Given the description of an element on the screen output the (x, y) to click on. 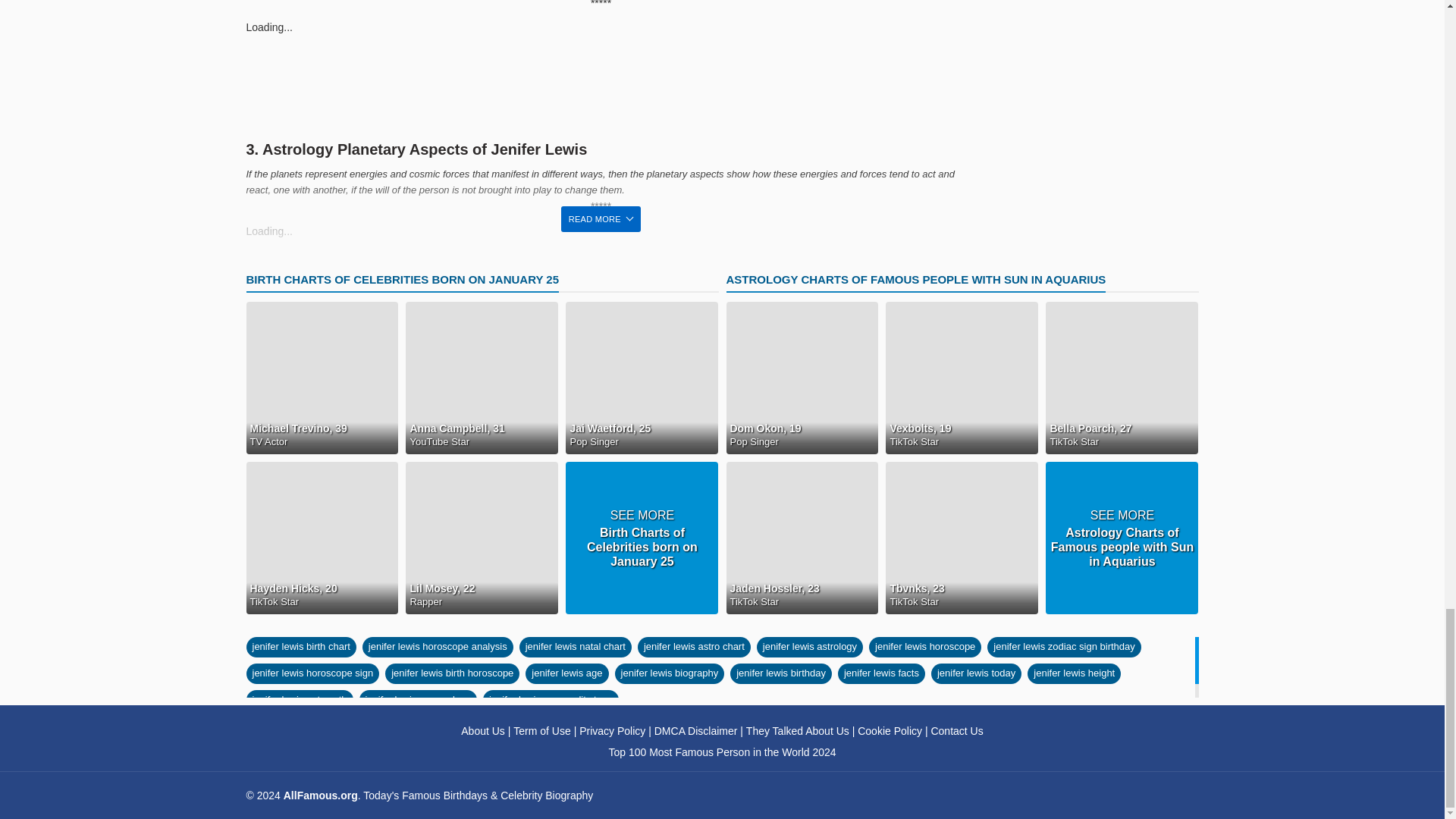
Advertisement (600, 84)
